Given the description of an element on the screen output the (x, y) to click on. 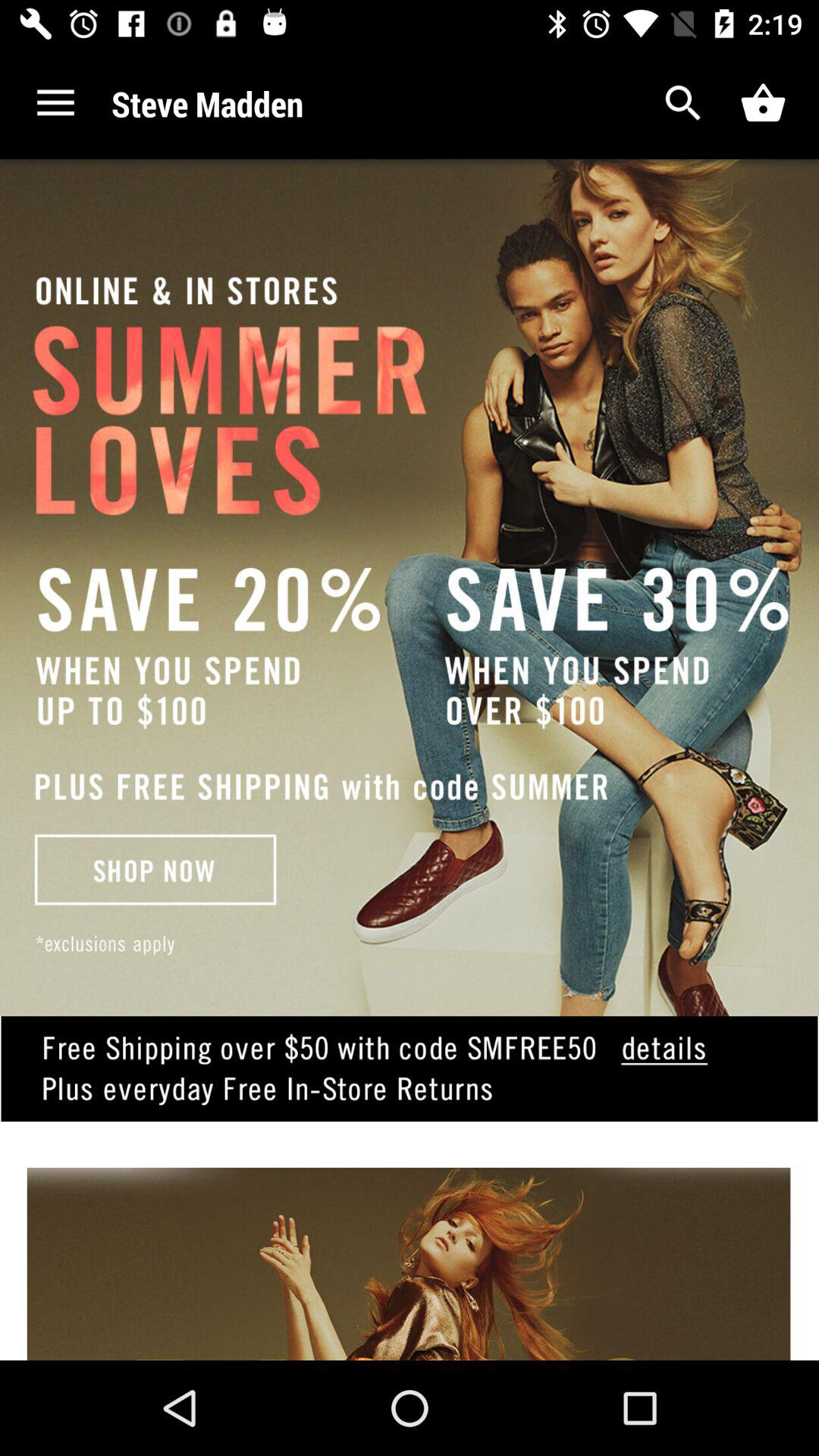
shows coupon details (409, 1091)
